Given the description of an element on the screen output the (x, y) to click on. 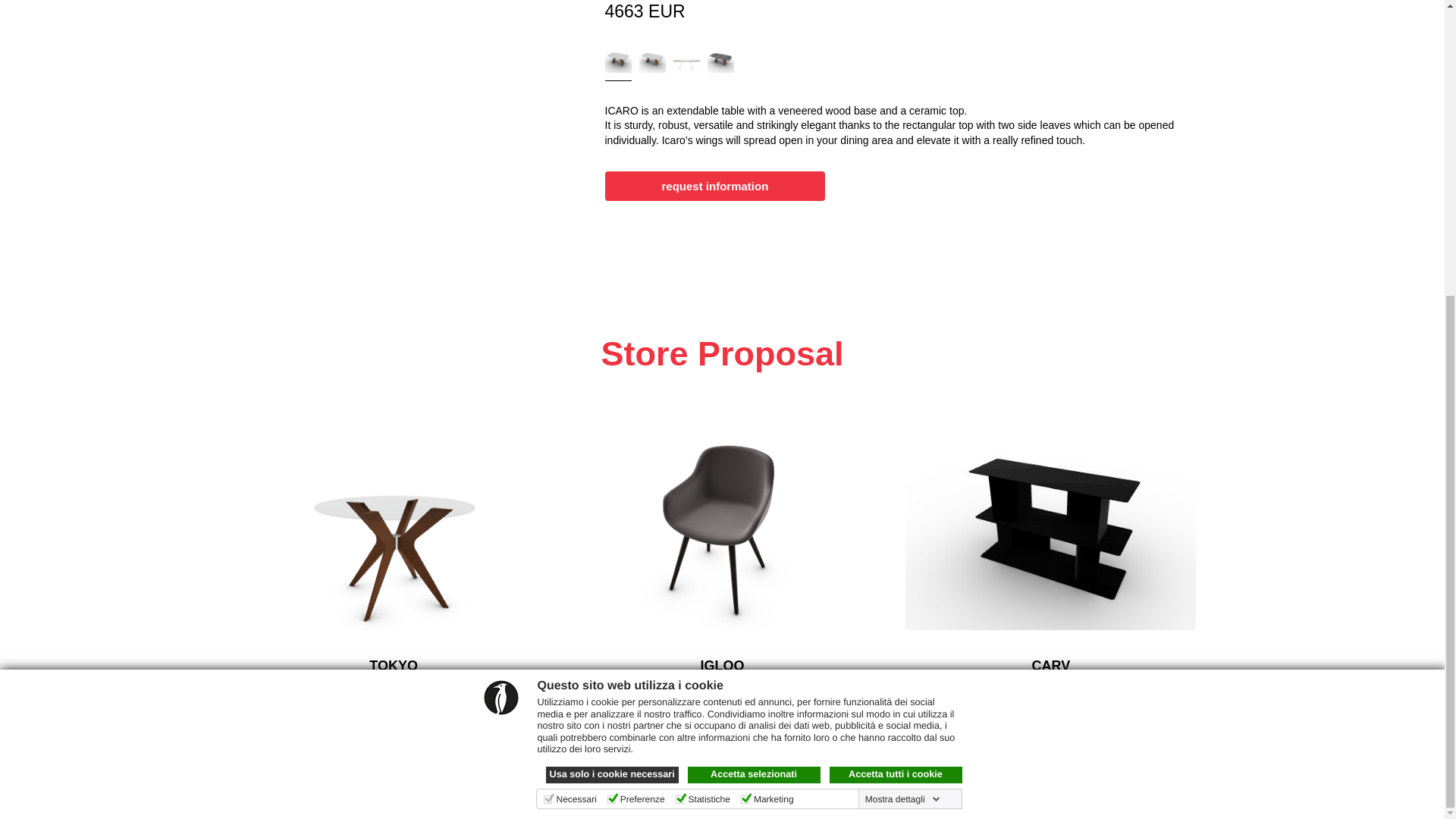
Accetta tutti i cookie (895, 320)
Accetta selezionati (753, 320)
Mostra dettagli (902, 345)
Usa solo i cookie necessari (612, 320)
